Given the description of an element on the screen output the (x, y) to click on. 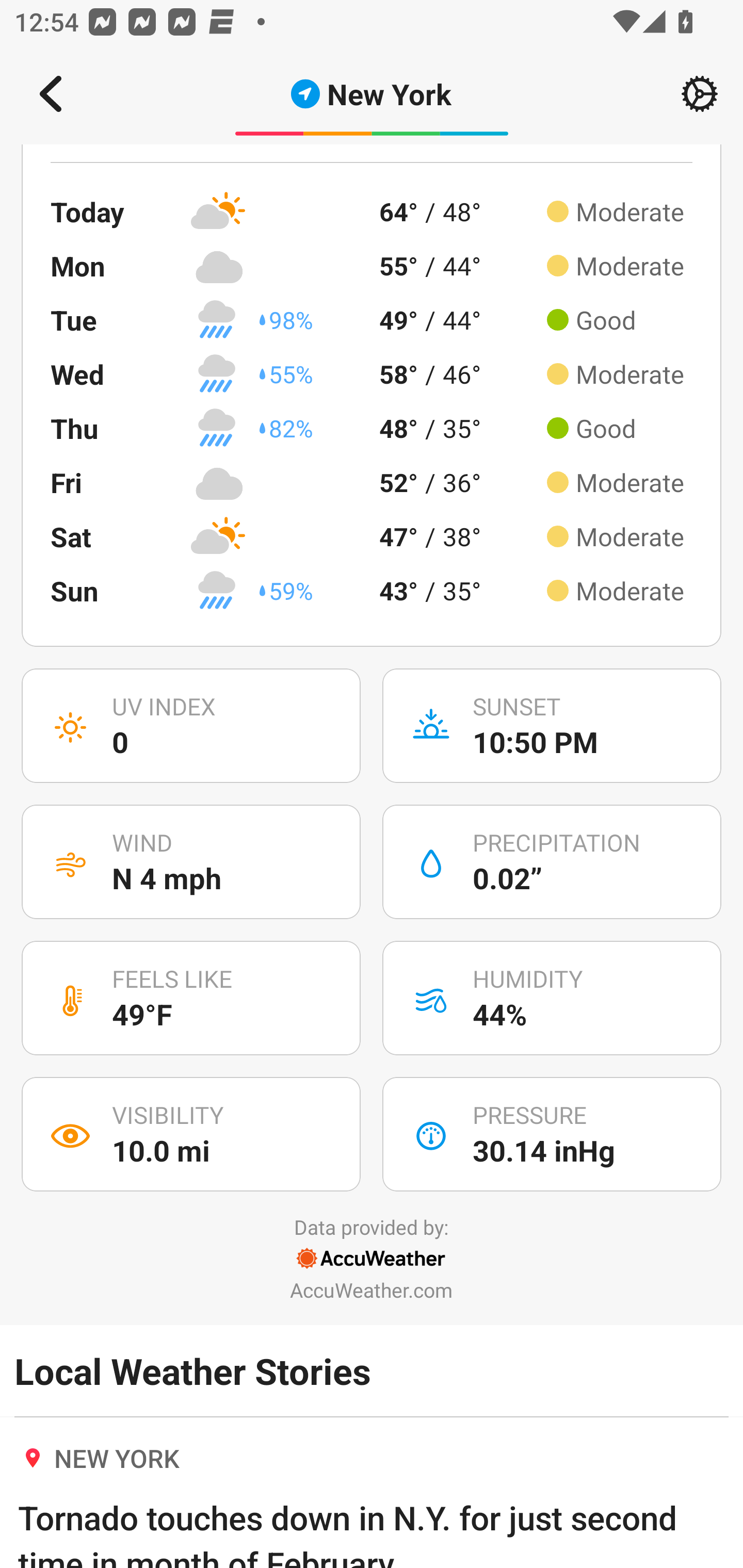
Navigate up (50, 93)
Setting (699, 93)
